Given the description of an element on the screen output the (x, y) to click on. 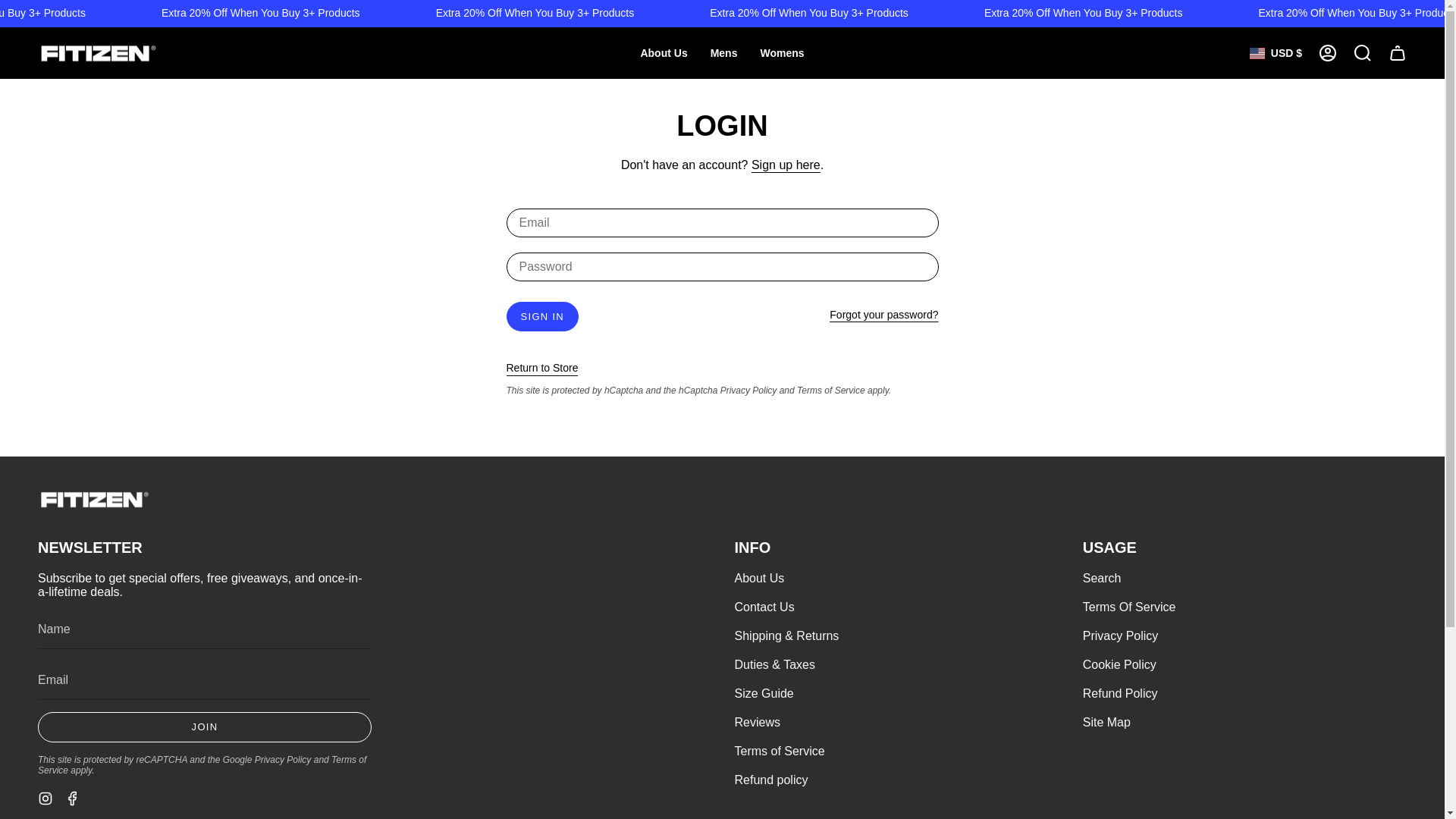
My Account (1327, 53)
Search (1362, 53)
Fitizen on Facebook (72, 797)
Cart (1397, 53)
Fitizen on Instagram (44, 797)
